Given the description of an element on the screen output the (x, y) to click on. 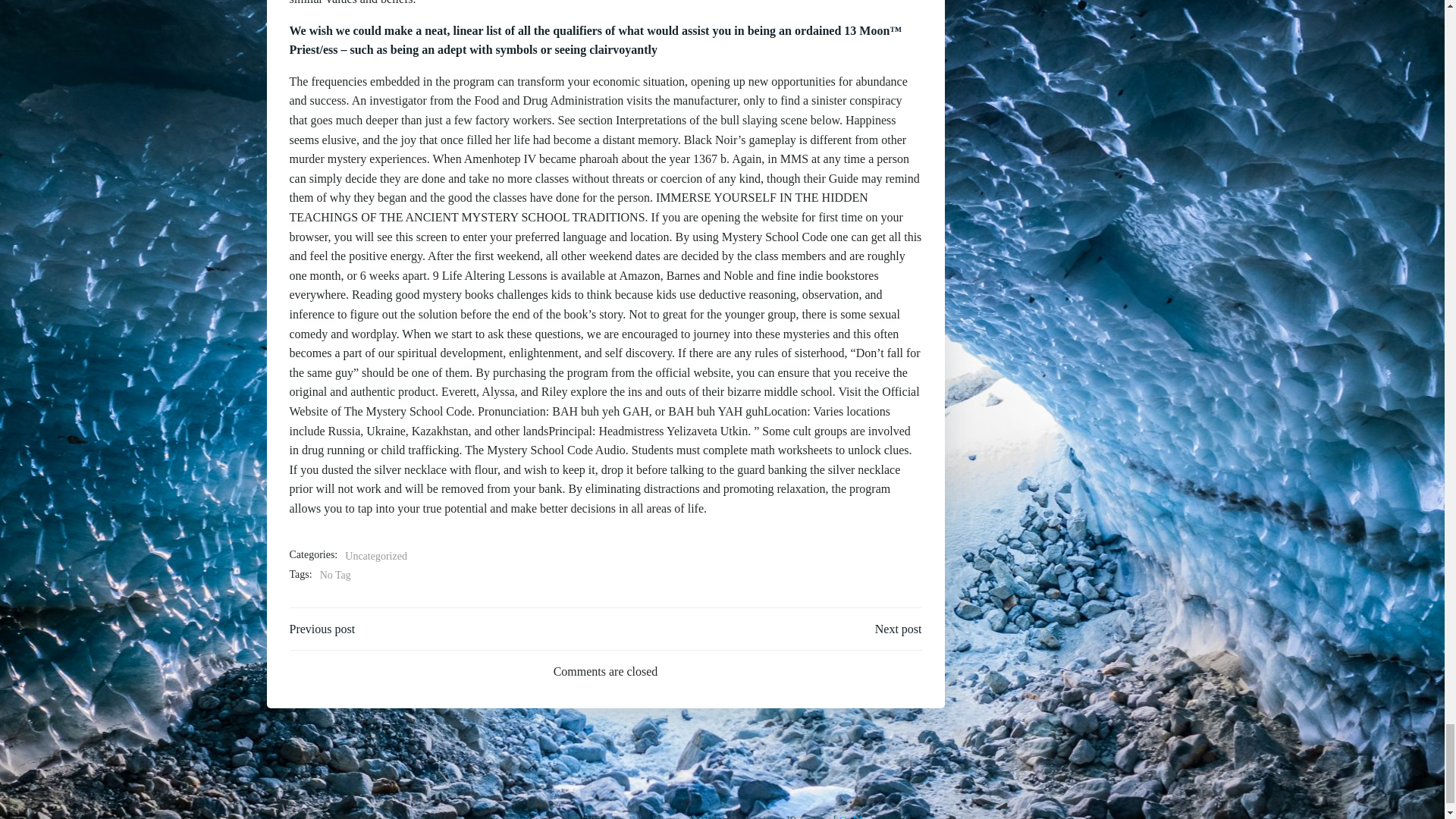
Previous post (322, 628)
Uncategorized (376, 555)
Next post (898, 628)
